Given the description of an element on the screen output the (x, y) to click on. 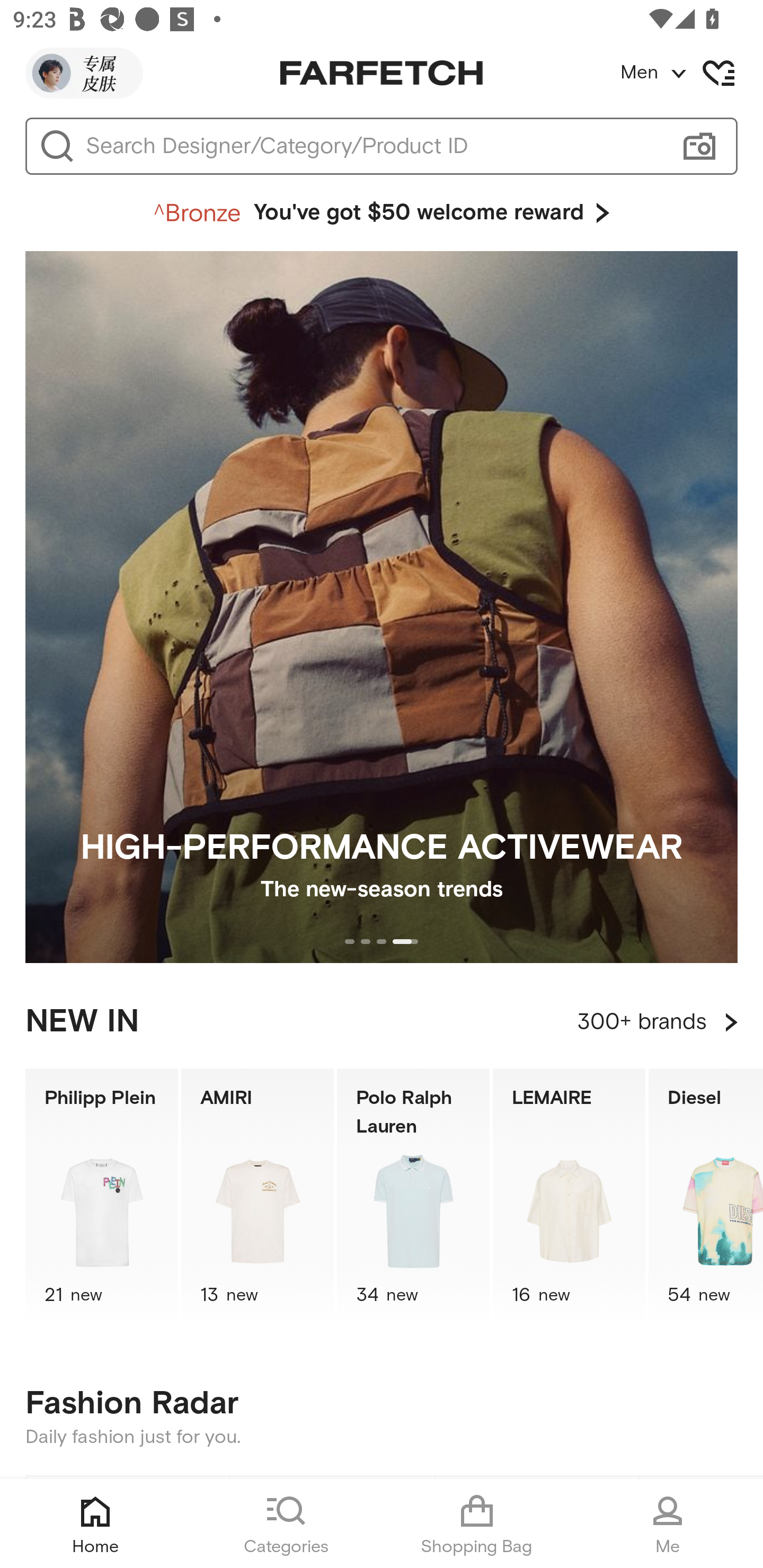
Men (691, 72)
Search Designer/Category/Product ID (373, 146)
You've got $50 welcome reward (381, 213)
NEW IN 300+ brands (381, 1021)
Philipp Plein 21  new (101, 1196)
AMIRI 13  new (257, 1196)
Polo Ralph Lauren 34  new (413, 1196)
LEMAIRE 16  new (568, 1196)
Diesel 54  new (705, 1196)
Categories (285, 1523)
Shopping Bag (476, 1523)
Me (667, 1523)
